Given the description of an element on the screen output the (x, y) to click on. 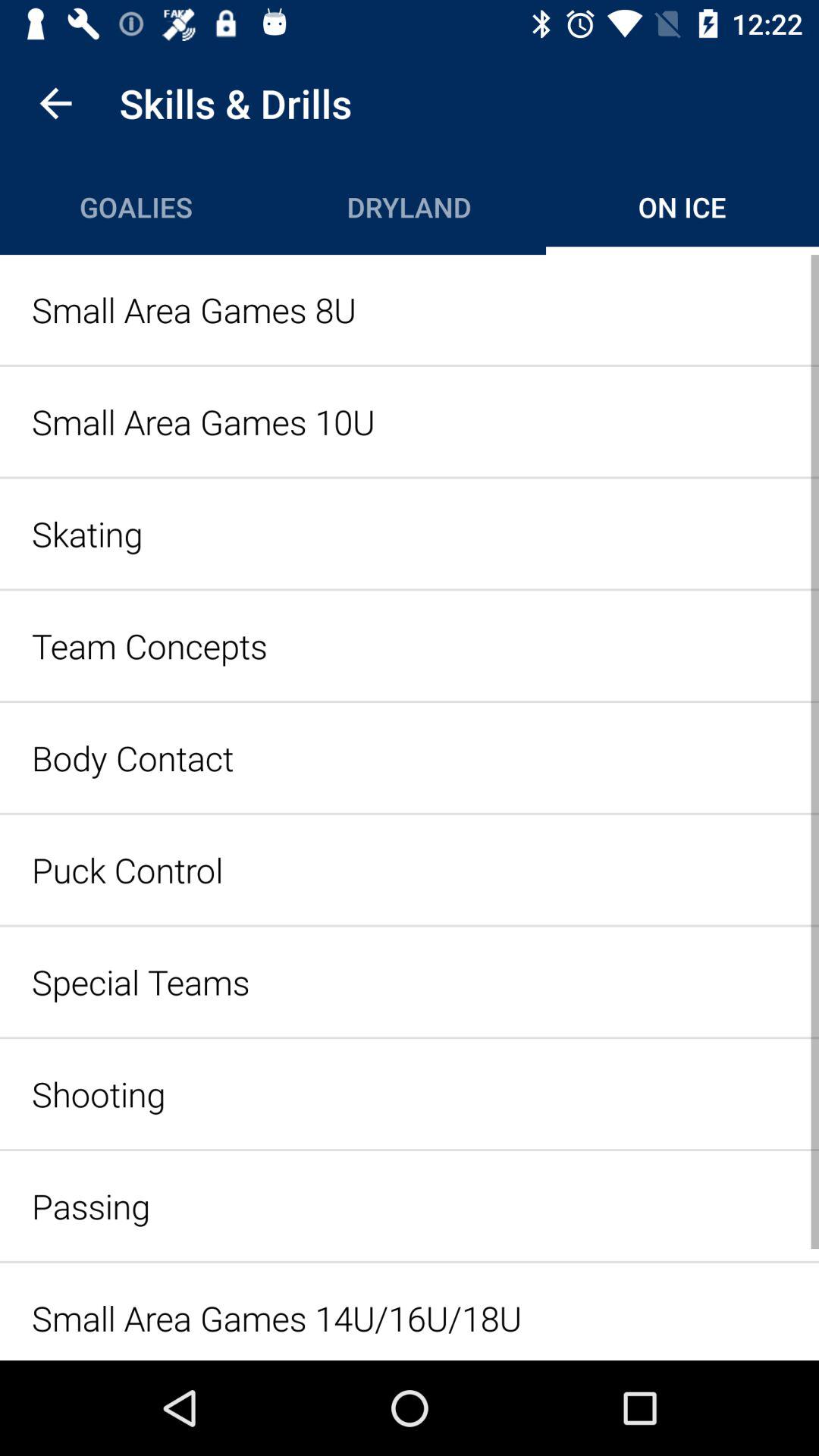
press the item below the small area games item (409, 533)
